Given the description of an element on the screen output the (x, y) to click on. 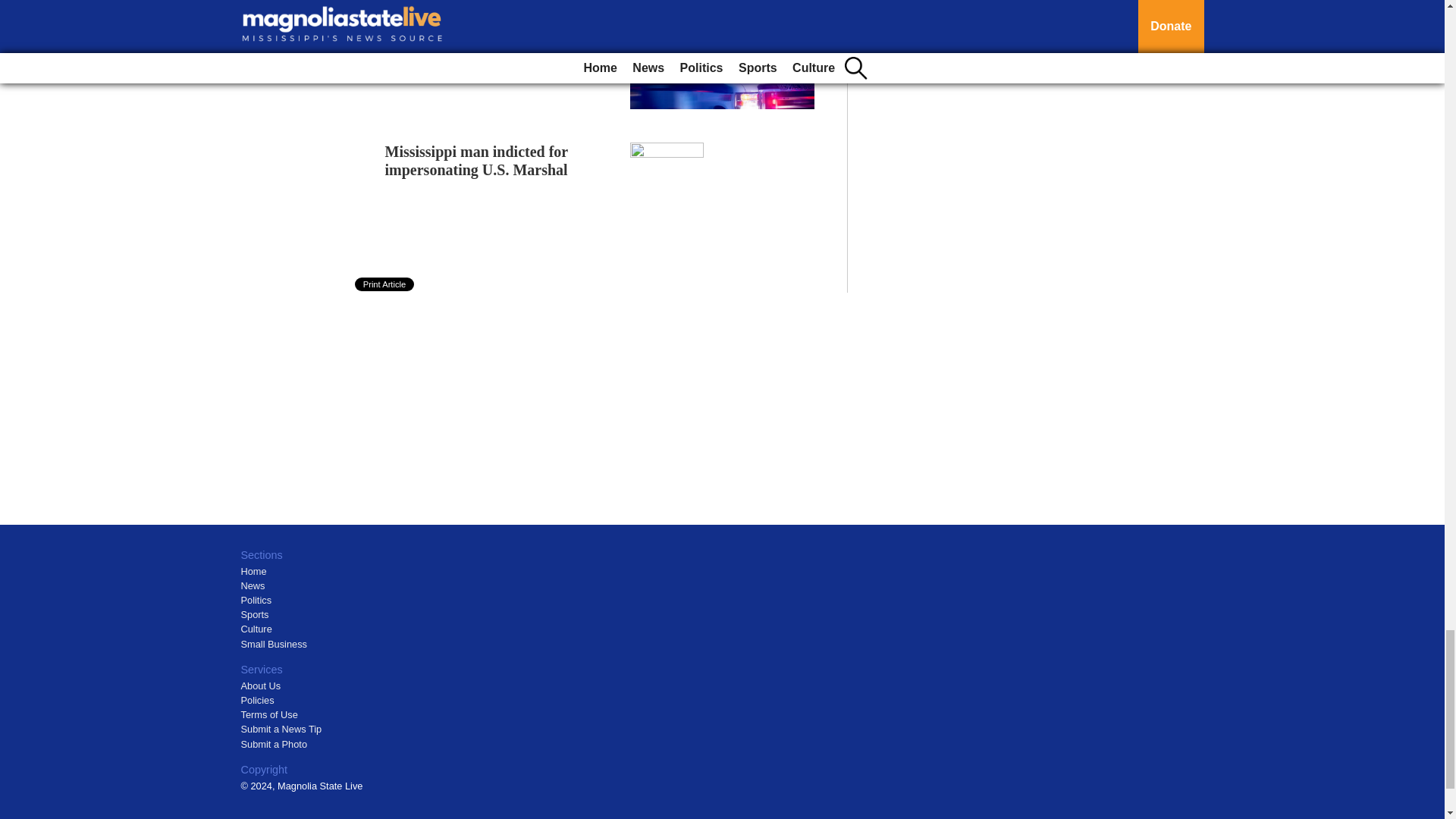
About Us (261, 685)
Mississippi man indicted for impersonating U.S. Marshal (476, 160)
Small Business (274, 644)
Home (253, 571)
Politics (256, 600)
Mississippi man indicted for impersonating U.S. Marshal (476, 160)
Sports (255, 614)
News (252, 585)
Policies (258, 699)
Culture (256, 628)
Print Article (384, 284)
Submit a News Tip (281, 728)
Terms of Use (269, 714)
Submit a Photo (274, 744)
